Given the description of an element on the screen output the (x, y) to click on. 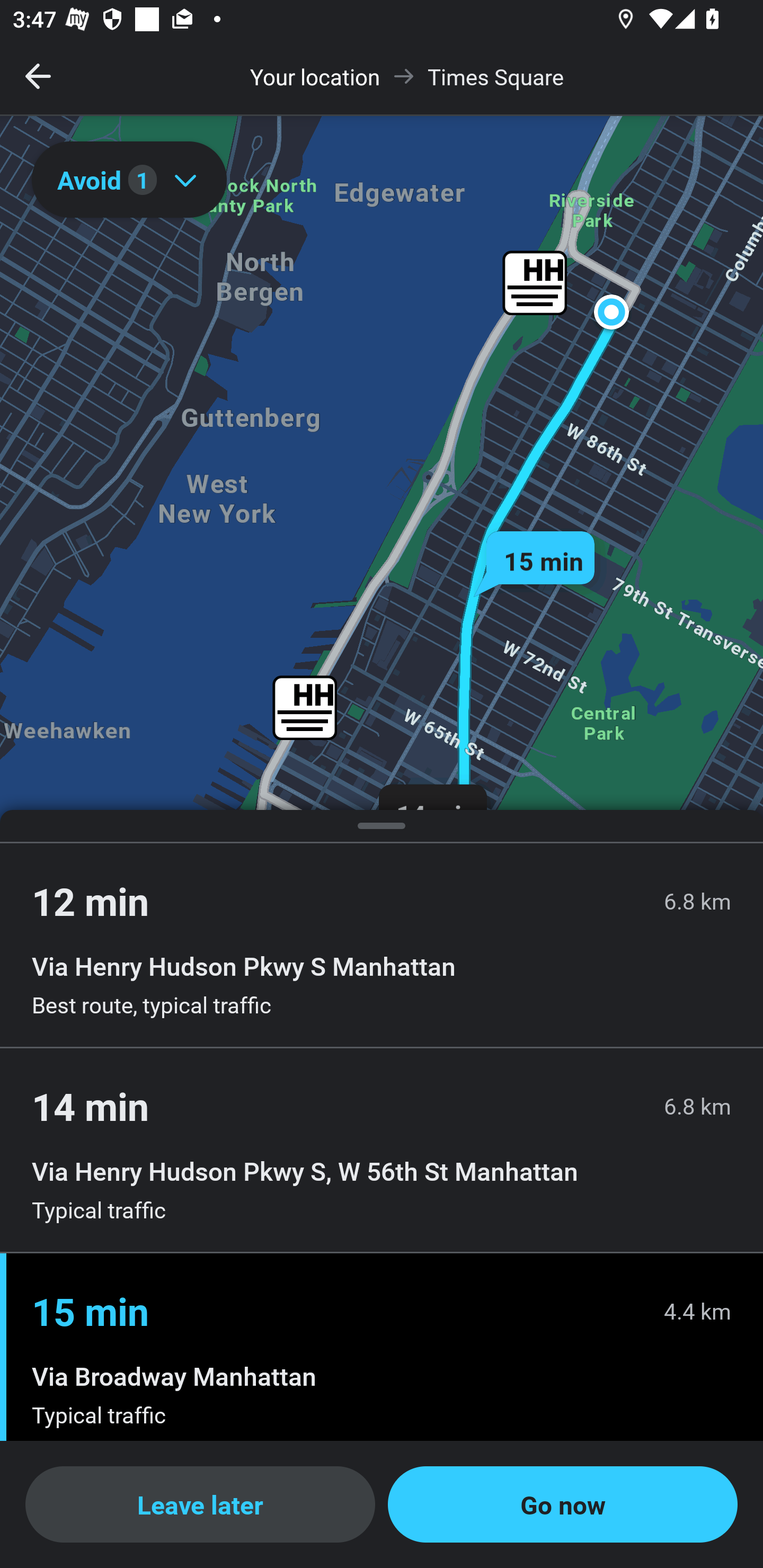
Leave later (200, 1504)
Go now (562, 1504)
